Given the description of an element on the screen output the (x, y) to click on. 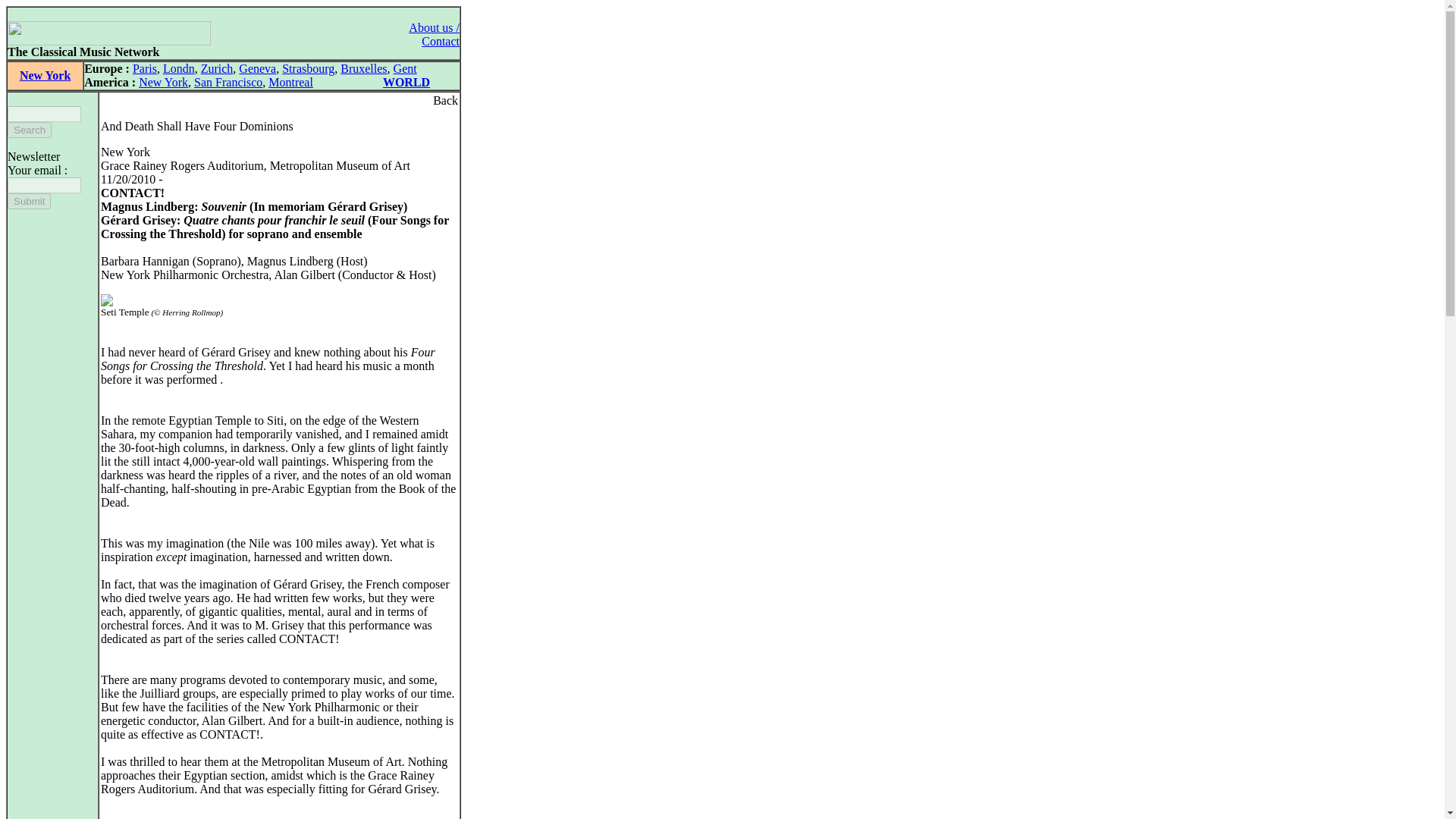
New York (162, 82)
Strasbourg (308, 68)
San Francisco (227, 82)
New York (44, 74)
Gent (404, 68)
Montreal (290, 82)
Paris (144, 68)
Back (445, 100)
Search (28, 130)
Geneva (257, 68)
Search (28, 130)
WORLD (405, 82)
Submit (28, 201)
Zurich (216, 68)
Londn (179, 68)
